Given the description of an element on the screen output the (x, y) to click on. 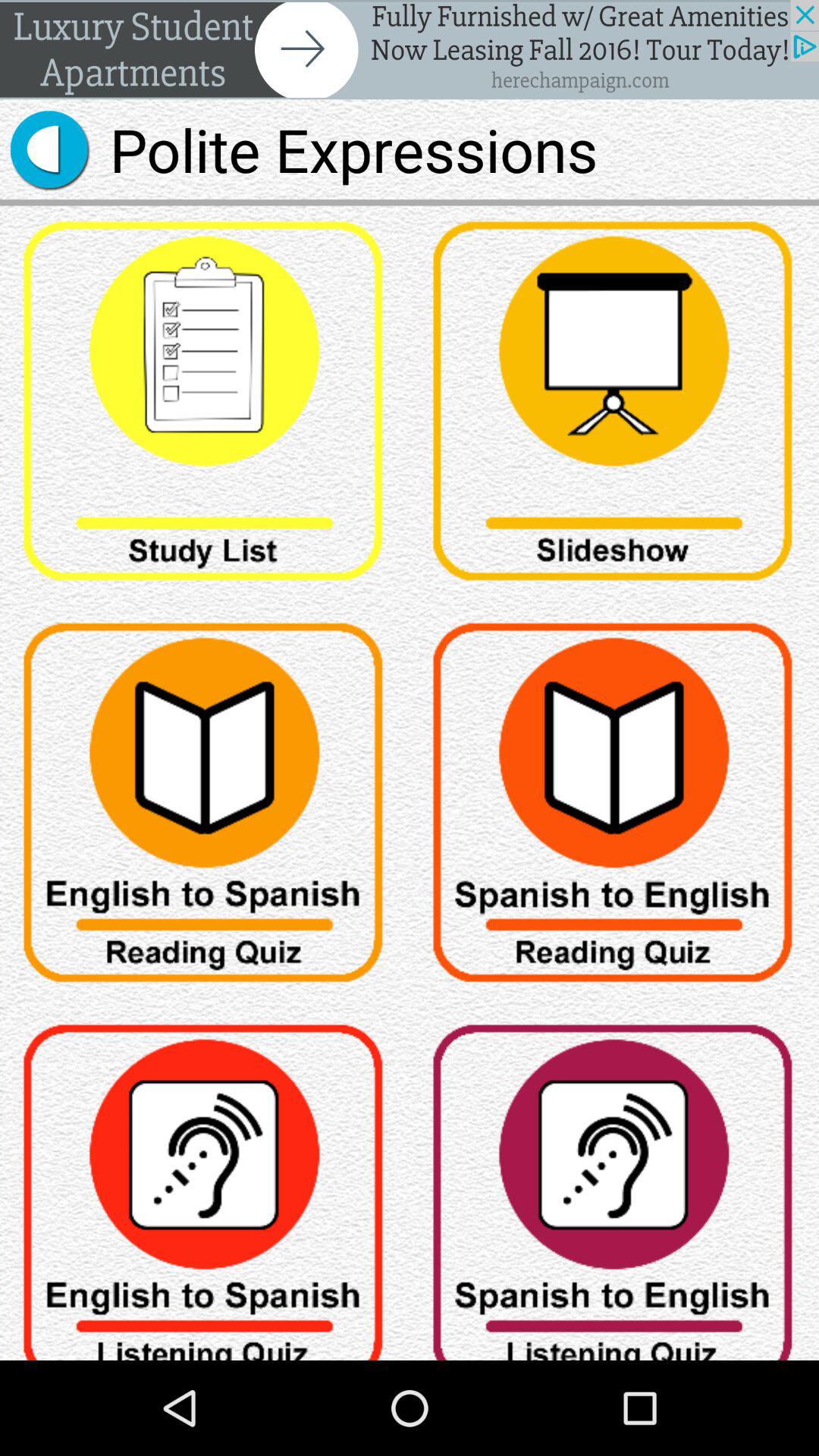
select spanish to english quiz (614, 807)
